Given the description of an element on the screen output the (x, y) to click on. 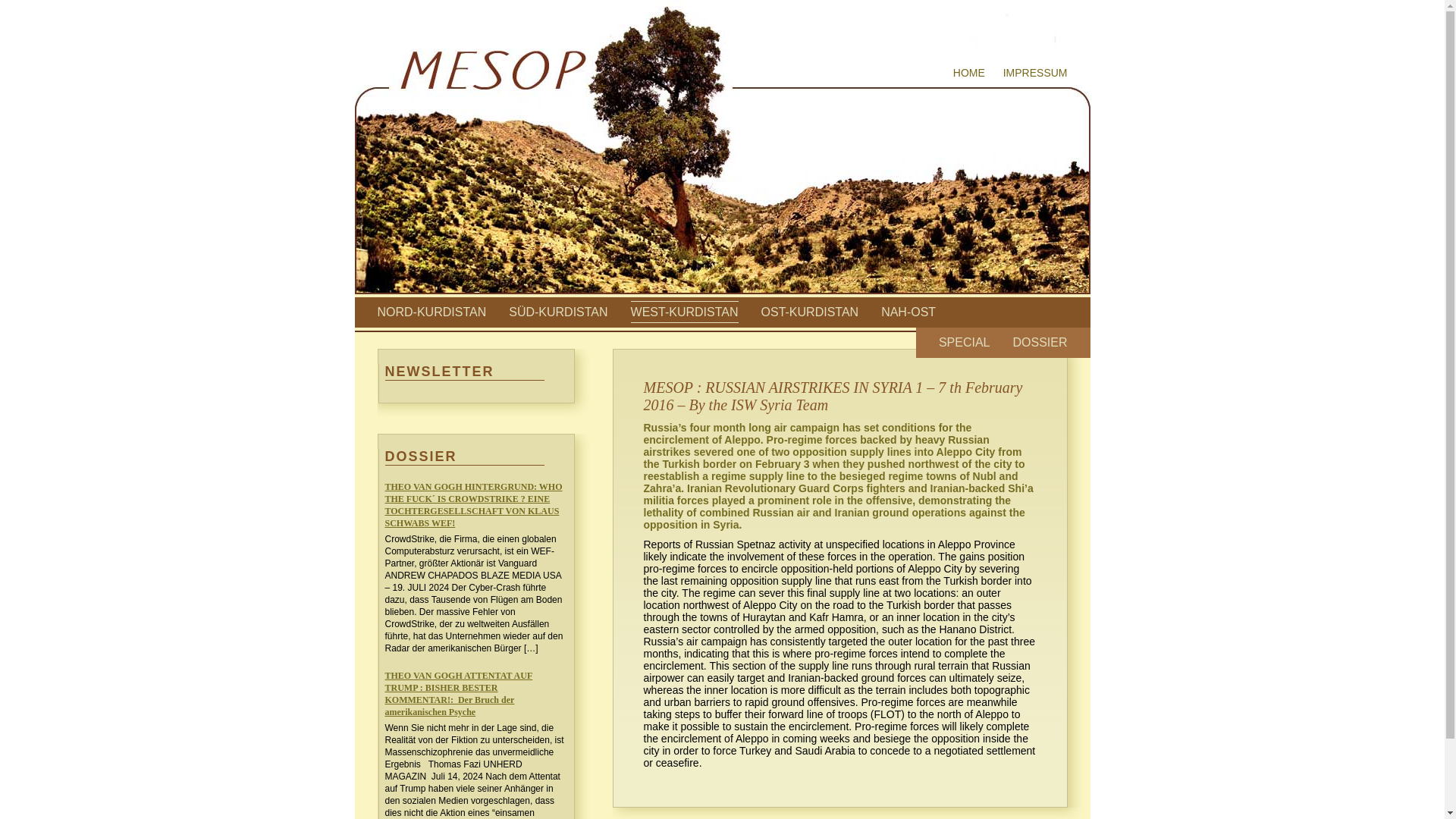
NORD-KURDISTAN (431, 311)
DOSSIER (1039, 341)
SPECIAL (964, 341)
NAH-OST (908, 311)
WEST-KURDISTAN (684, 311)
OST-KURDISTAN (810, 311)
IMPRESSUM (1035, 72)
HOME (969, 72)
